Given the description of an element on the screen output the (x, y) to click on. 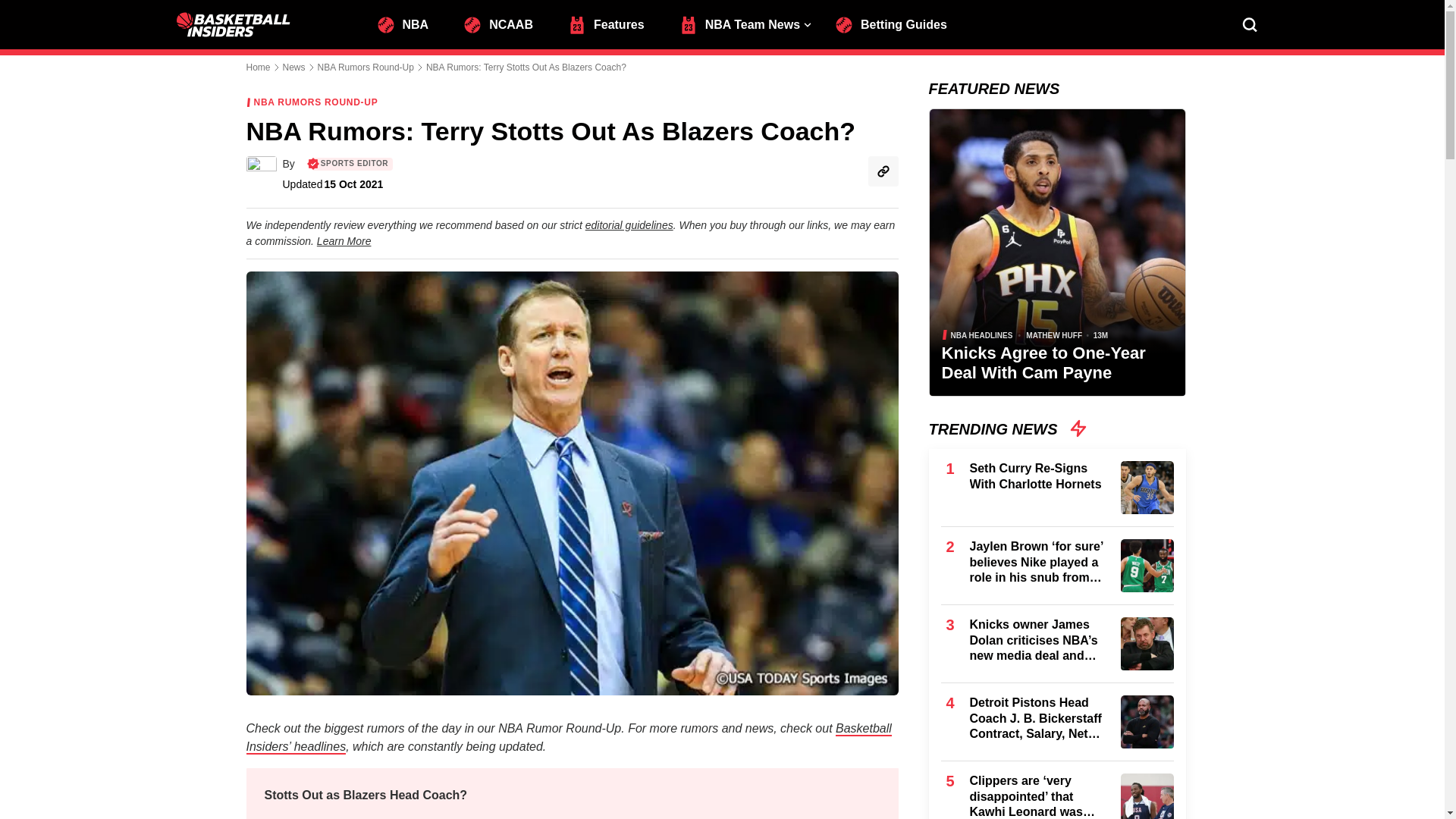
NBA Team News (746, 22)
Features (612, 22)
NBA (408, 22)
NCAAB (504, 22)
